Given the description of an element on the screen output the (x, y) to click on. 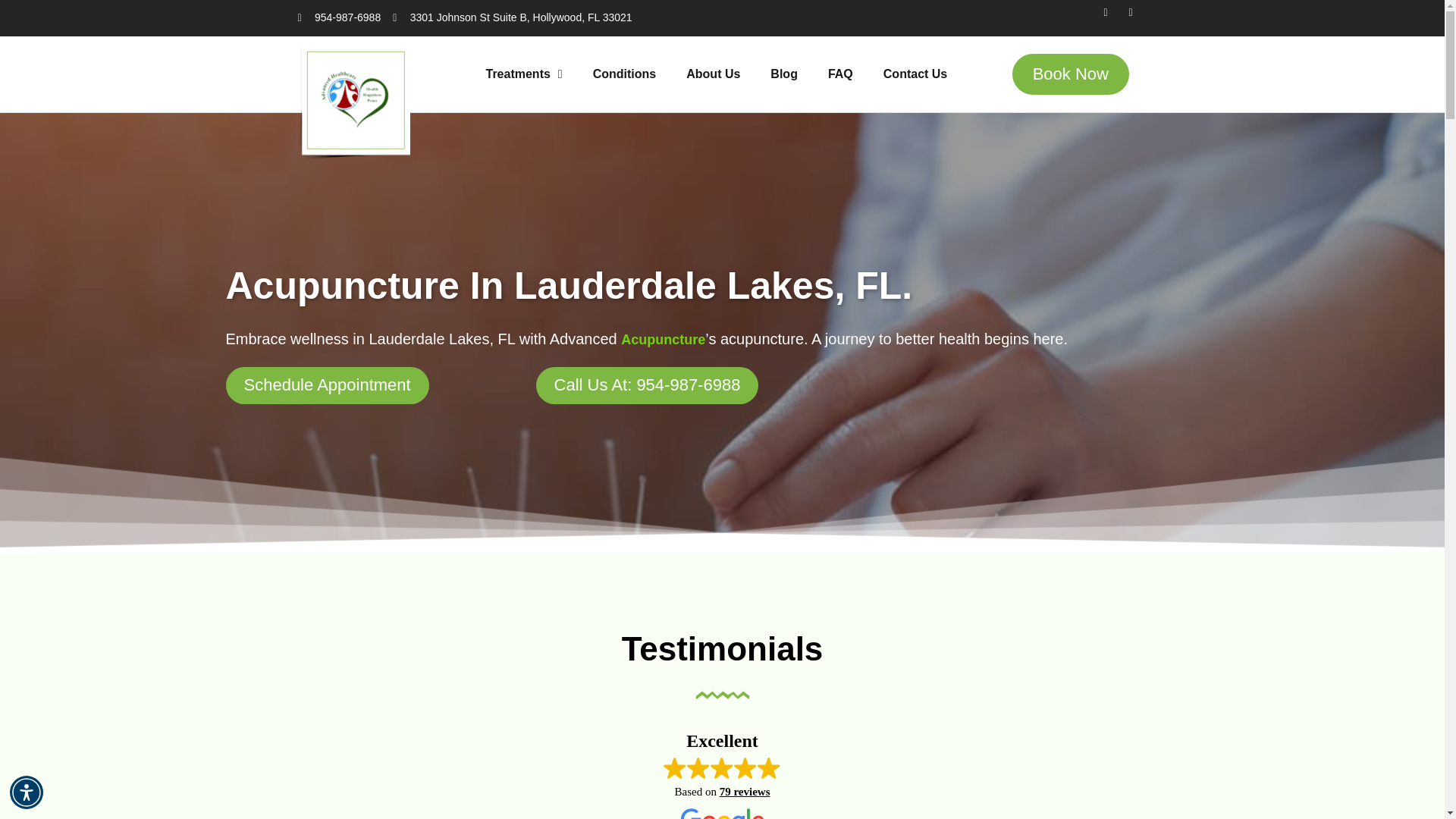
Treatments (523, 73)
3301 Johnson St Suite B, Hollywood, FL 33021 (512, 18)
About Us (713, 73)
Conditions (624, 73)
Blog (783, 73)
Accessibility Menu (26, 792)
Acupuncture (662, 339)
954-987-6988 (338, 18)
